Given the description of an element on the screen output the (x, y) to click on. 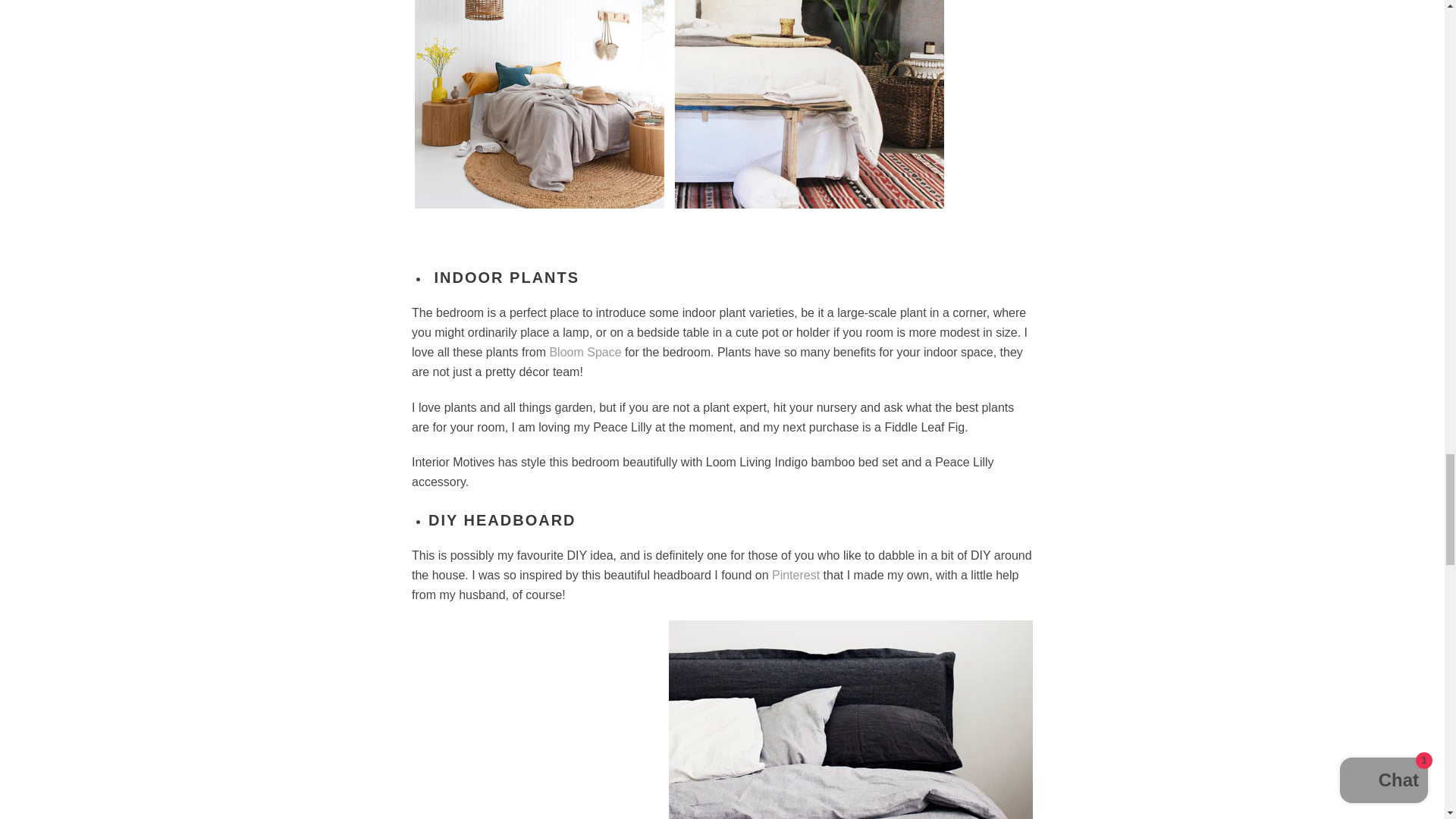
Bloom Space (584, 351)
Pinterest (795, 574)
